Given the description of an element on the screen output the (x, y) to click on. 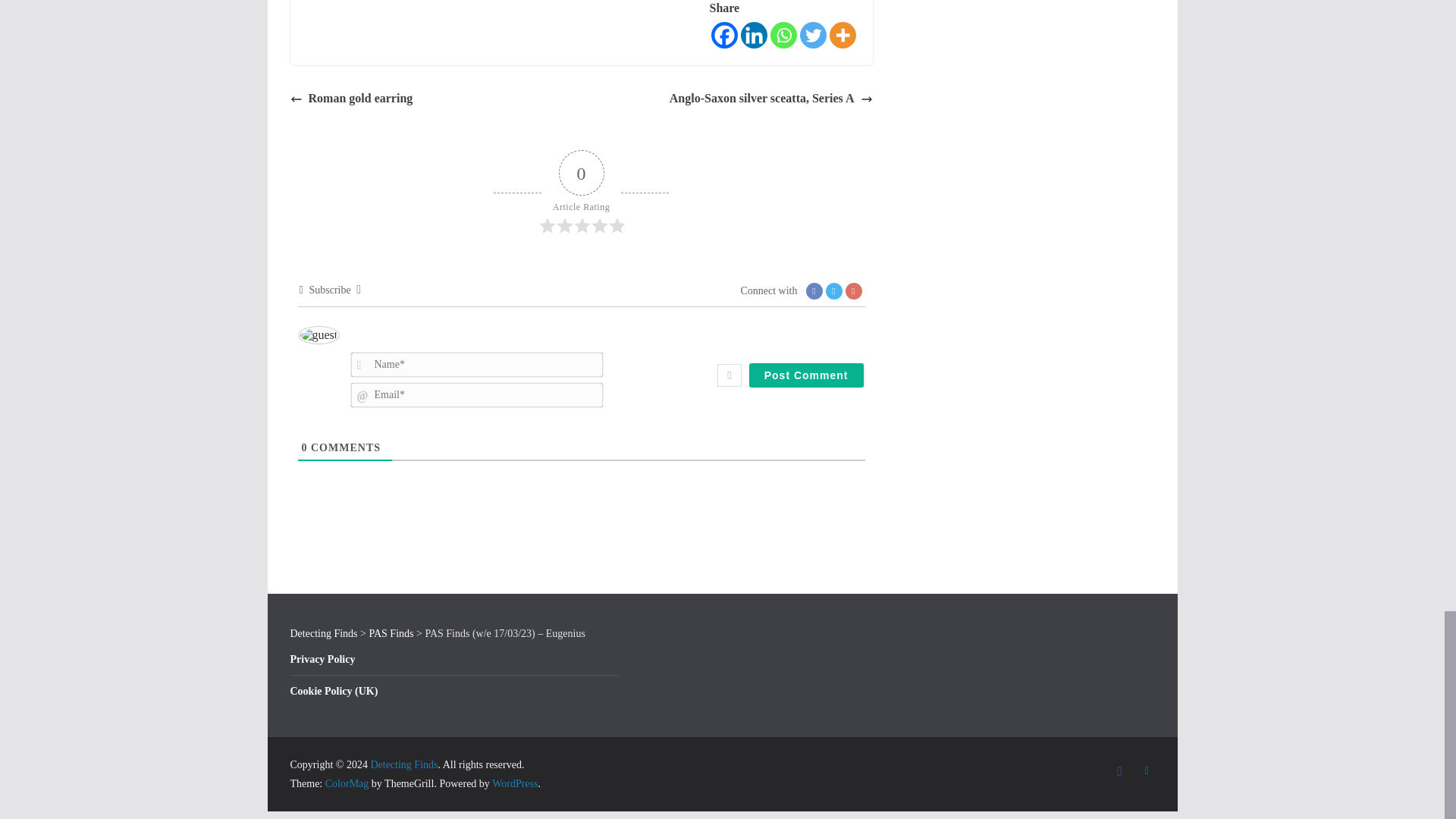
Twitter (812, 35)
Facebook (724, 35)
More (842, 35)
Whatsapp (783, 35)
Linkedin (753, 35)
Post Comment (806, 375)
